Given the description of an element on the screen output the (x, y) to click on. 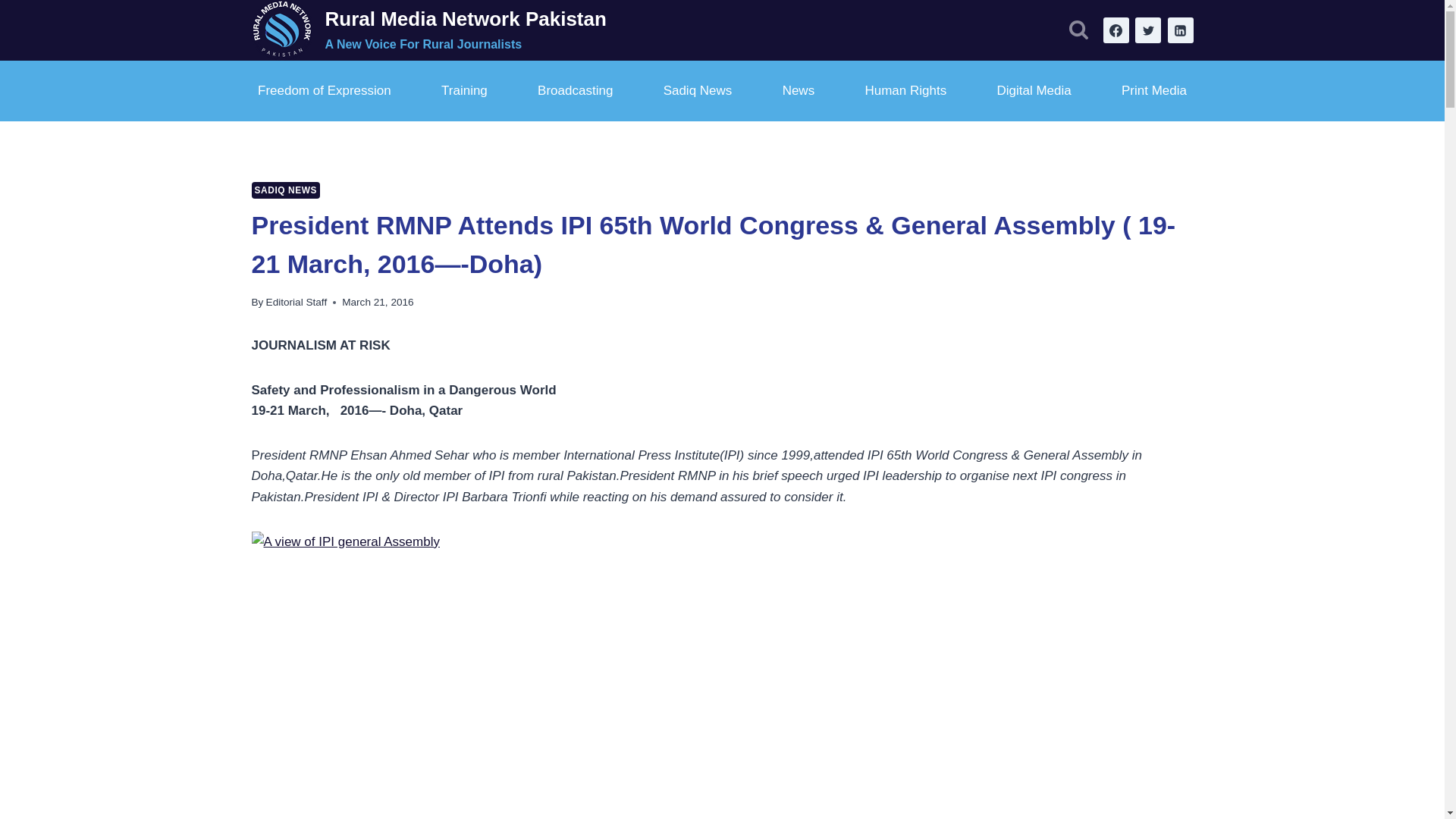
Freedom of Expression (324, 90)
Sadiq News (697, 90)
Editorial Staff (296, 301)
News (798, 90)
Training (465, 90)
Print Media (1153, 90)
Human Rights (906, 90)
Broadcasting (575, 90)
Digital Media (1033, 90)
SADIQ NEWS (285, 190)
